Given the description of an element on the screen output the (x, y) to click on. 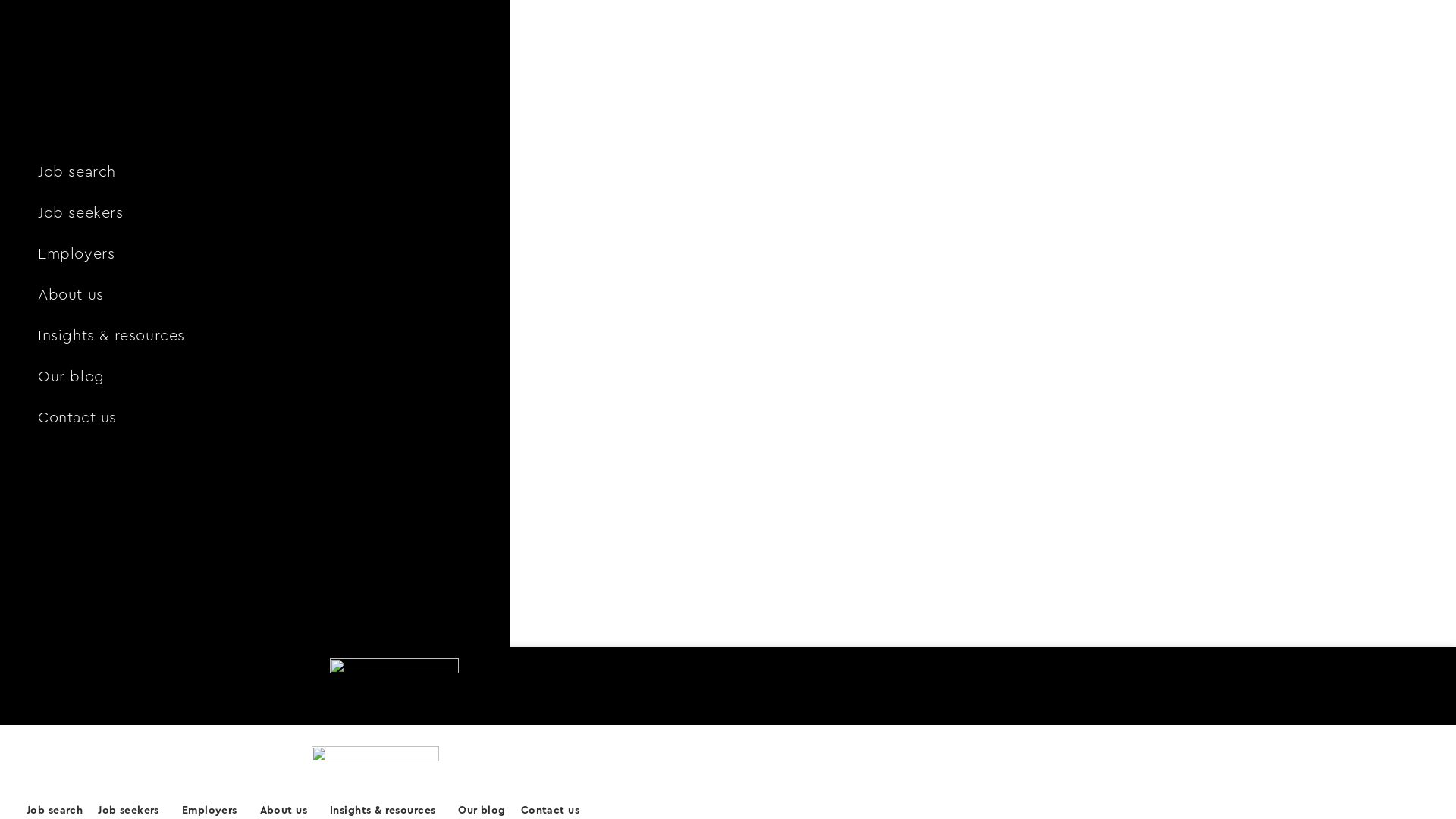
Contact us Element type: text (292, 417)
Our blog Element type: text (292, 376)
About us Element type: text (292, 294)
Employers Element type: text (292, 253)
Insights & resources Element type: text (292, 335)
Job seekers Element type: text (292, 212)
Job search Element type: text (292, 171)
